Given the description of an element on the screen output the (x, y) to click on. 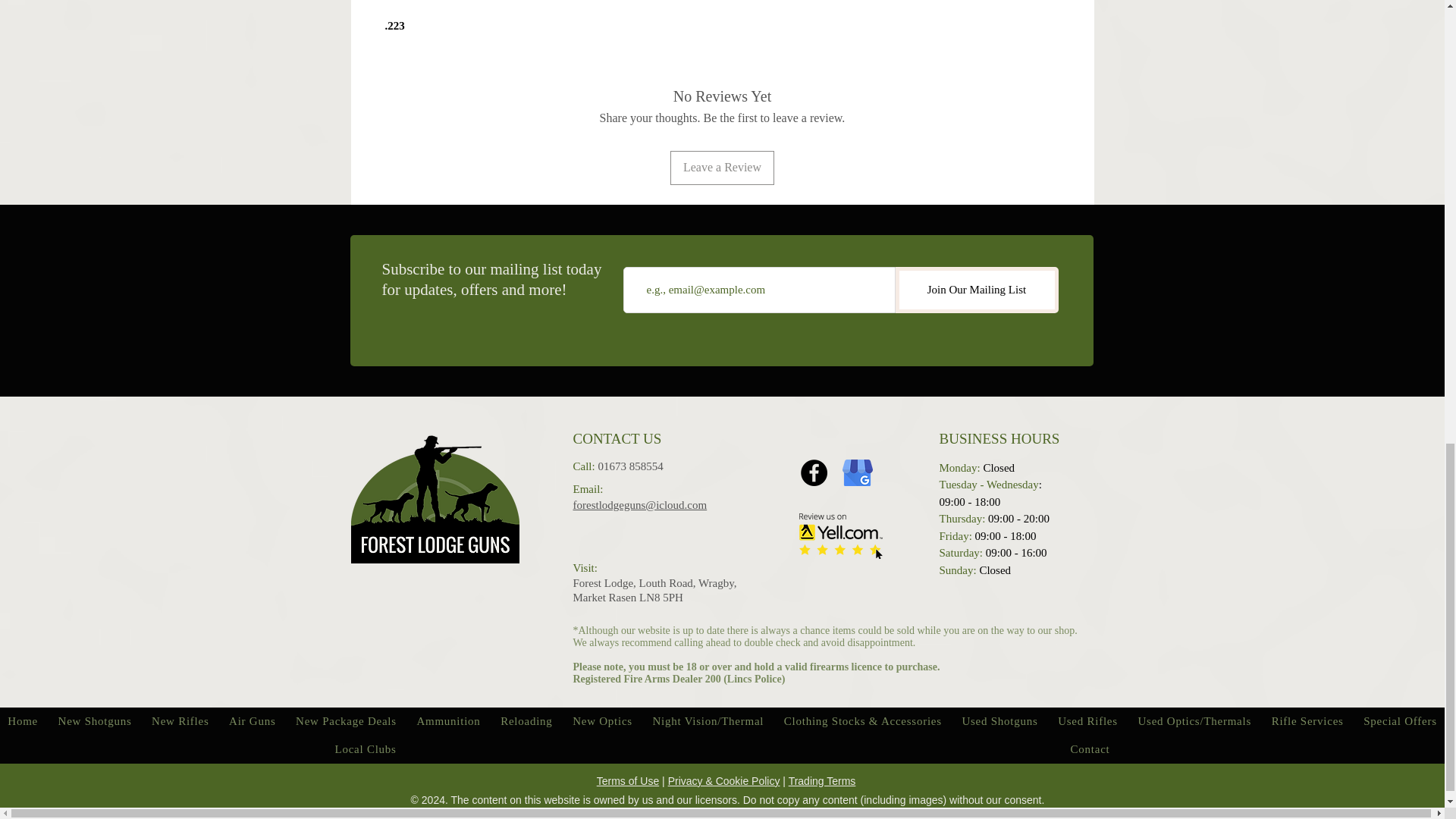
New Optics (602, 721)
Tuesday - Wednesday: (990, 484)
New Rifles (180, 721)
Terms of Use (627, 780)
New Package Deals (346, 721)
Air Guns (252, 721)
09:00 - 18:00 (969, 501)
Reloading (526, 721)
Monday: (959, 467)
Join Our Mailing List (976, 289)
Special Offers (1399, 721)
Home (22, 721)
Leave a Review (721, 167)
Ammunition (448, 721)
Contact (1089, 749)
